Given the description of an element on the screen output the (x, y) to click on. 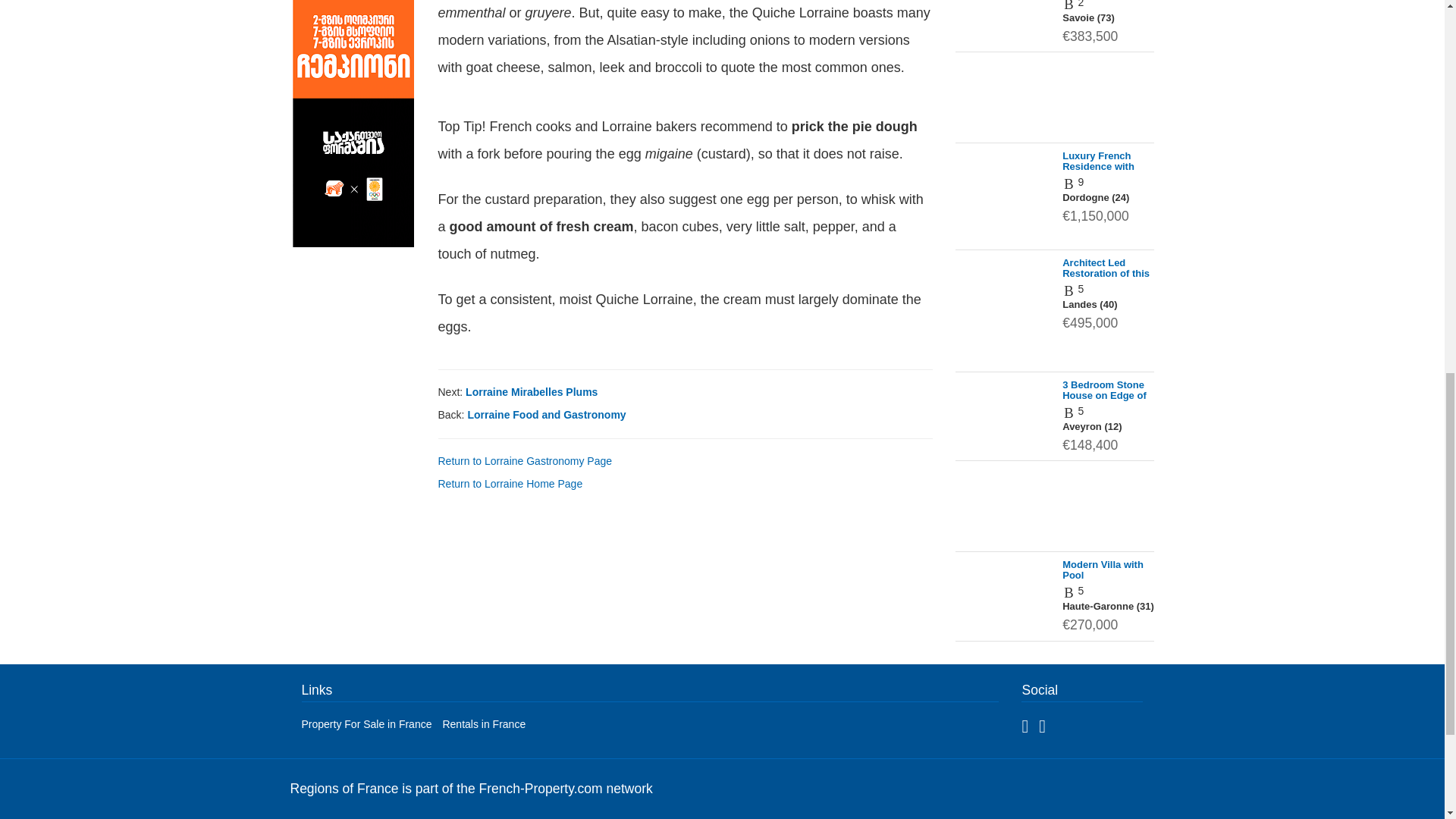
Return to Lorraine Home Page (510, 483)
Return to Lorraine Gastronomy Page (525, 460)
Lorraine Mirabelles Plums (530, 391)
Lorraine Food and Gastronomy (546, 414)
